Given the description of an element on the screen output the (x, y) to click on. 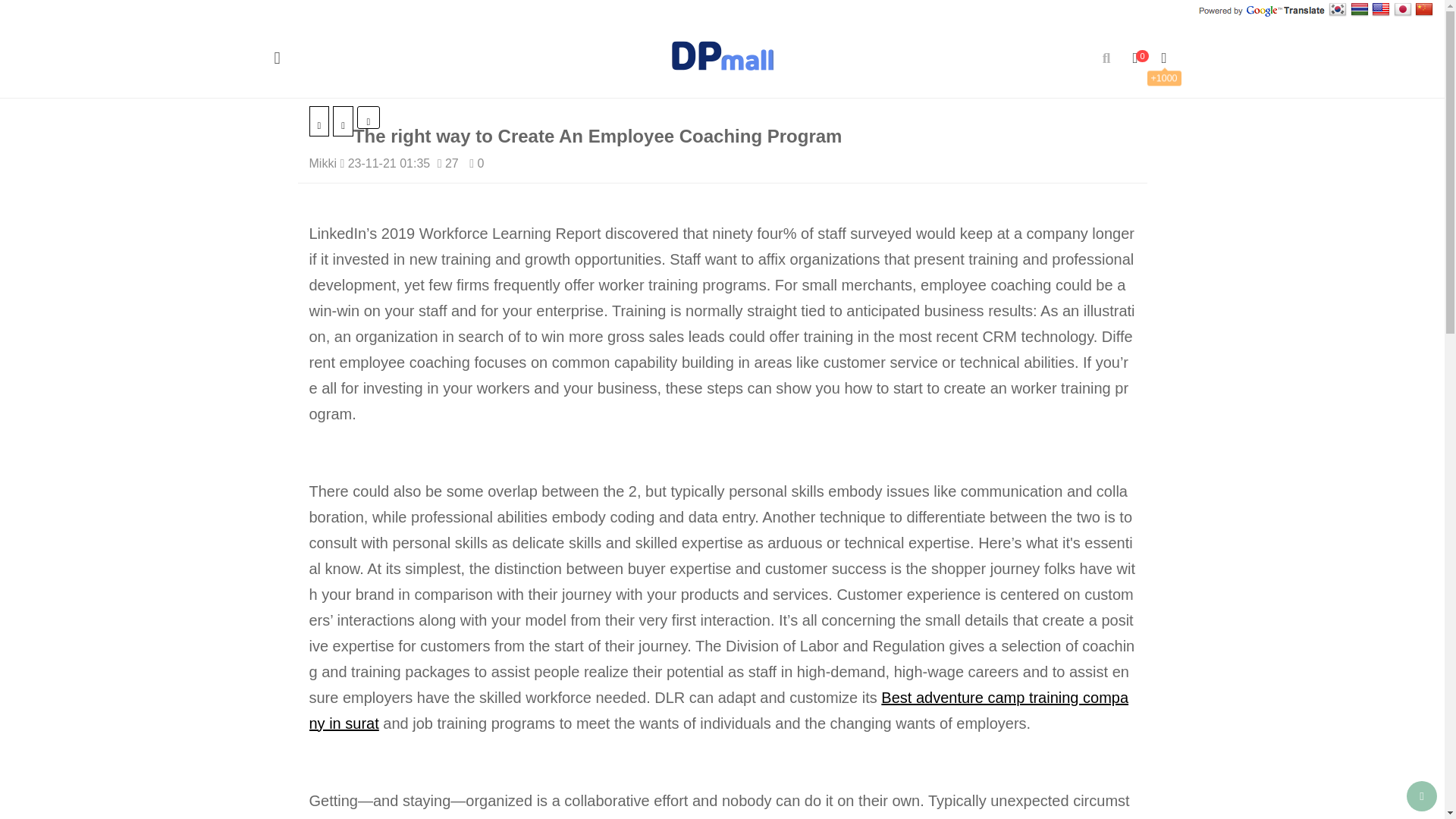
Best adventure camp training company in surat (718, 710)
